Given the description of an element on the screen output the (x, y) to click on. 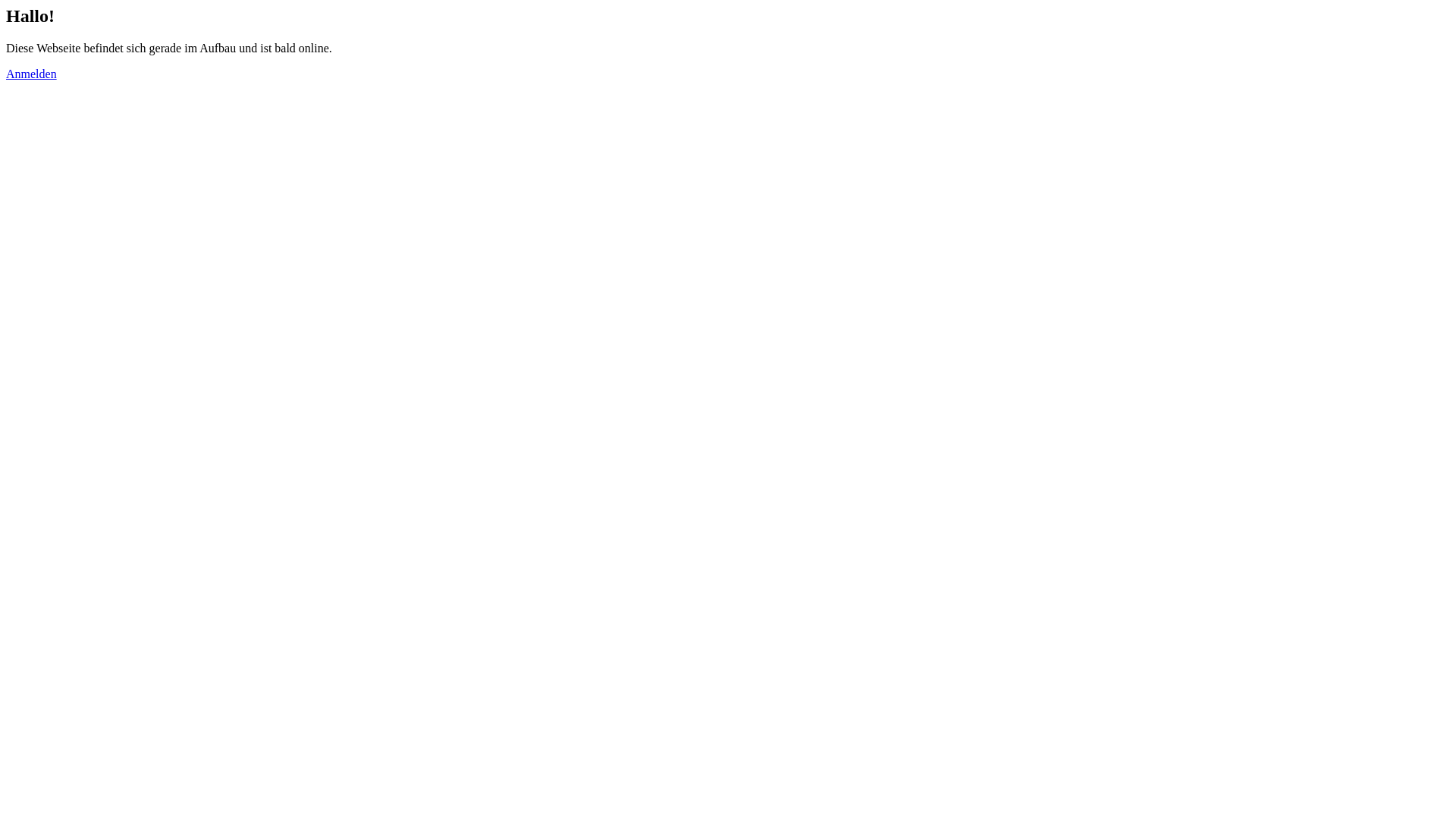
Anmelden Element type: text (31, 73)
